Given the description of an element on the screen output the (x, y) to click on. 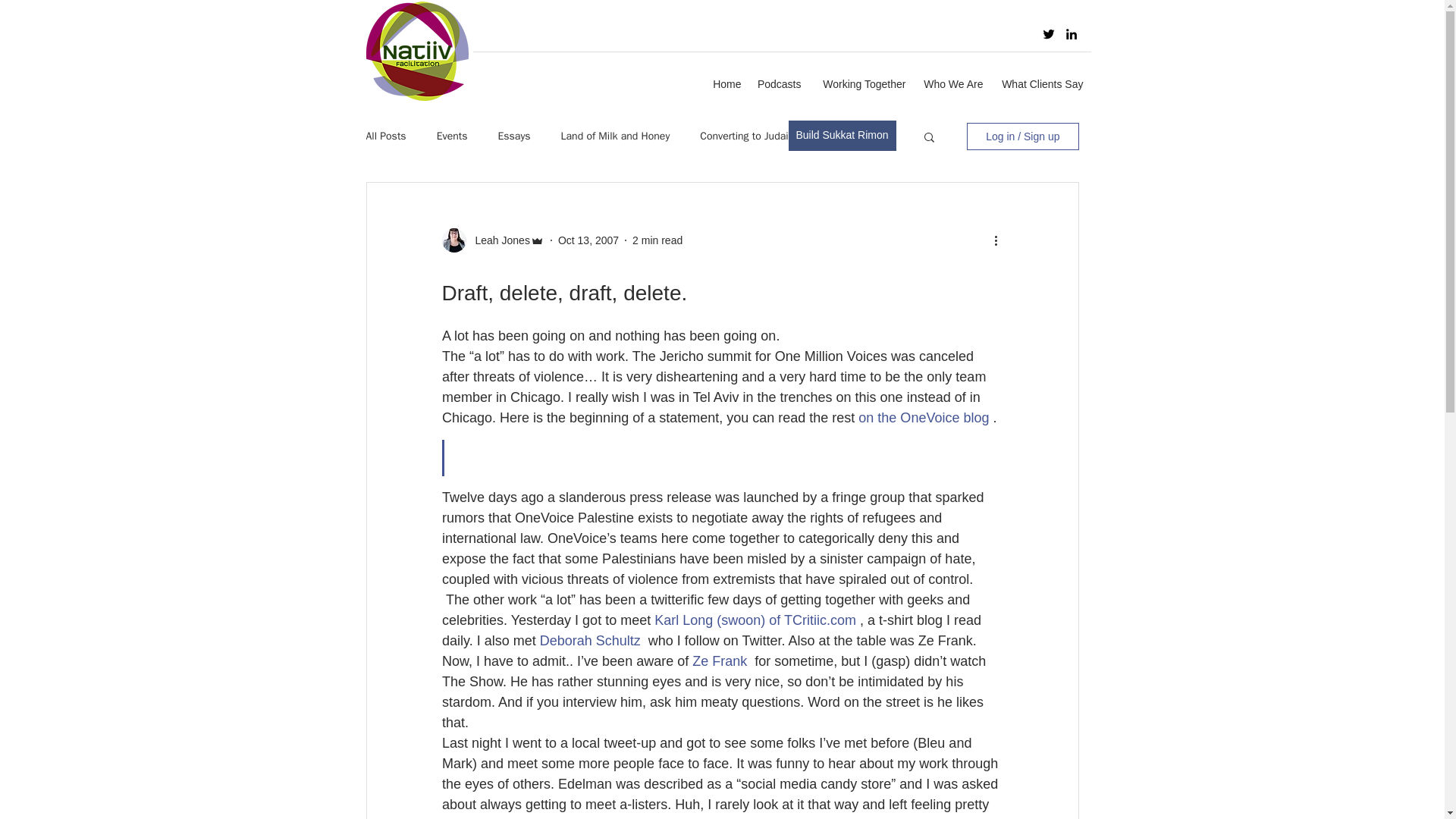
Converting to Judaism (751, 136)
Home (725, 83)
Working Together (860, 83)
Podcasts (779, 83)
Deborah Schultz (589, 640)
Essays (513, 136)
All Posts (385, 136)
Who We Are (951, 83)
What Clients Say (1040, 83)
Build Sukkat Rimon (842, 135)
2 min read (656, 239)
Oct 13, 2007 (587, 239)
Land of Milk and Honey (614, 136)
Ze Frank (719, 661)
Leah Jones (497, 239)
